Given the description of an element on the screen output the (x, y) to click on. 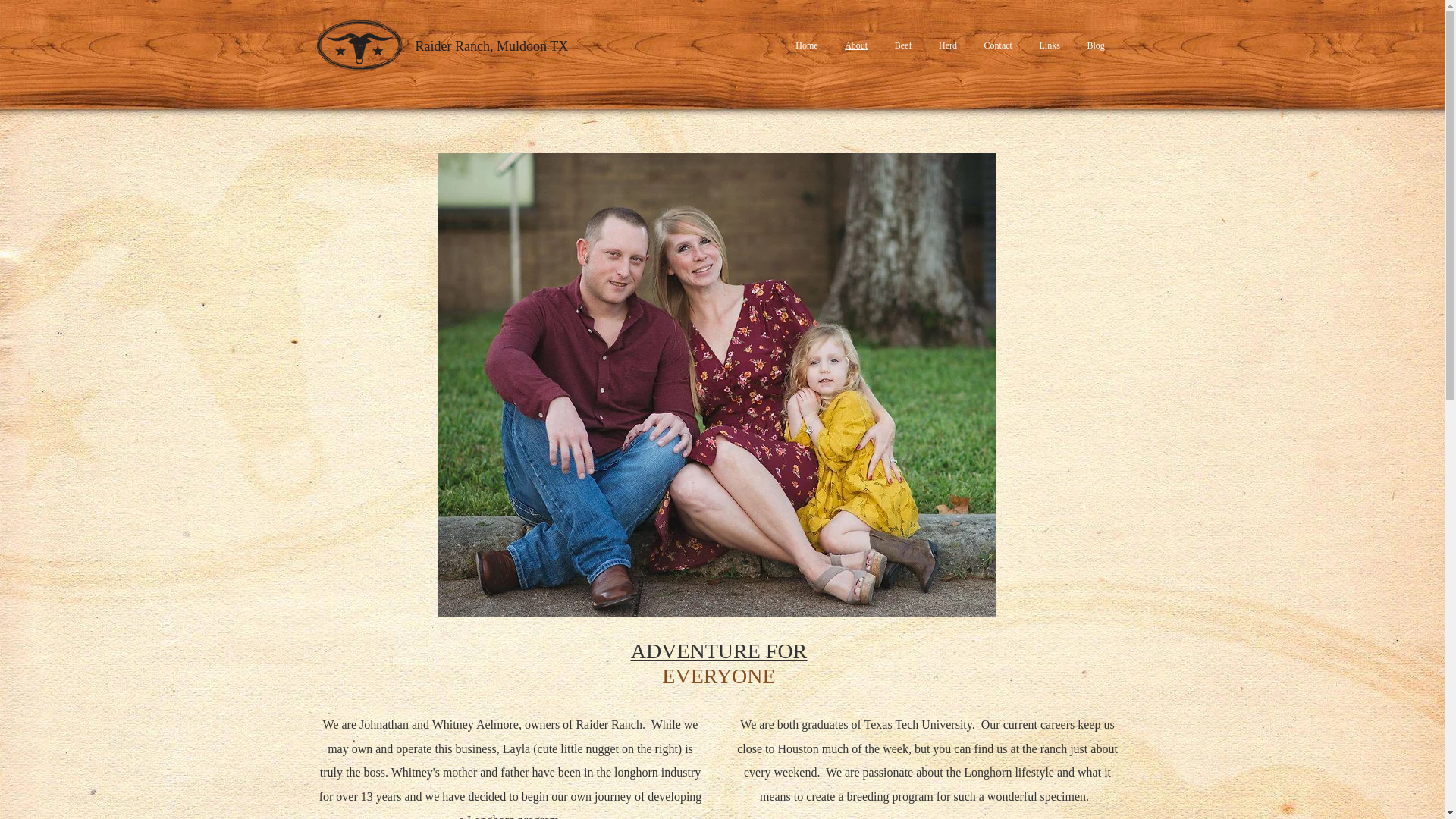
Contact (998, 45)
Herd (947, 45)
Blog (1096, 45)
Beef (902, 45)
About (855, 45)
Links (1050, 45)
Home (807, 45)
